Given the description of an element on the screen output the (x, y) to click on. 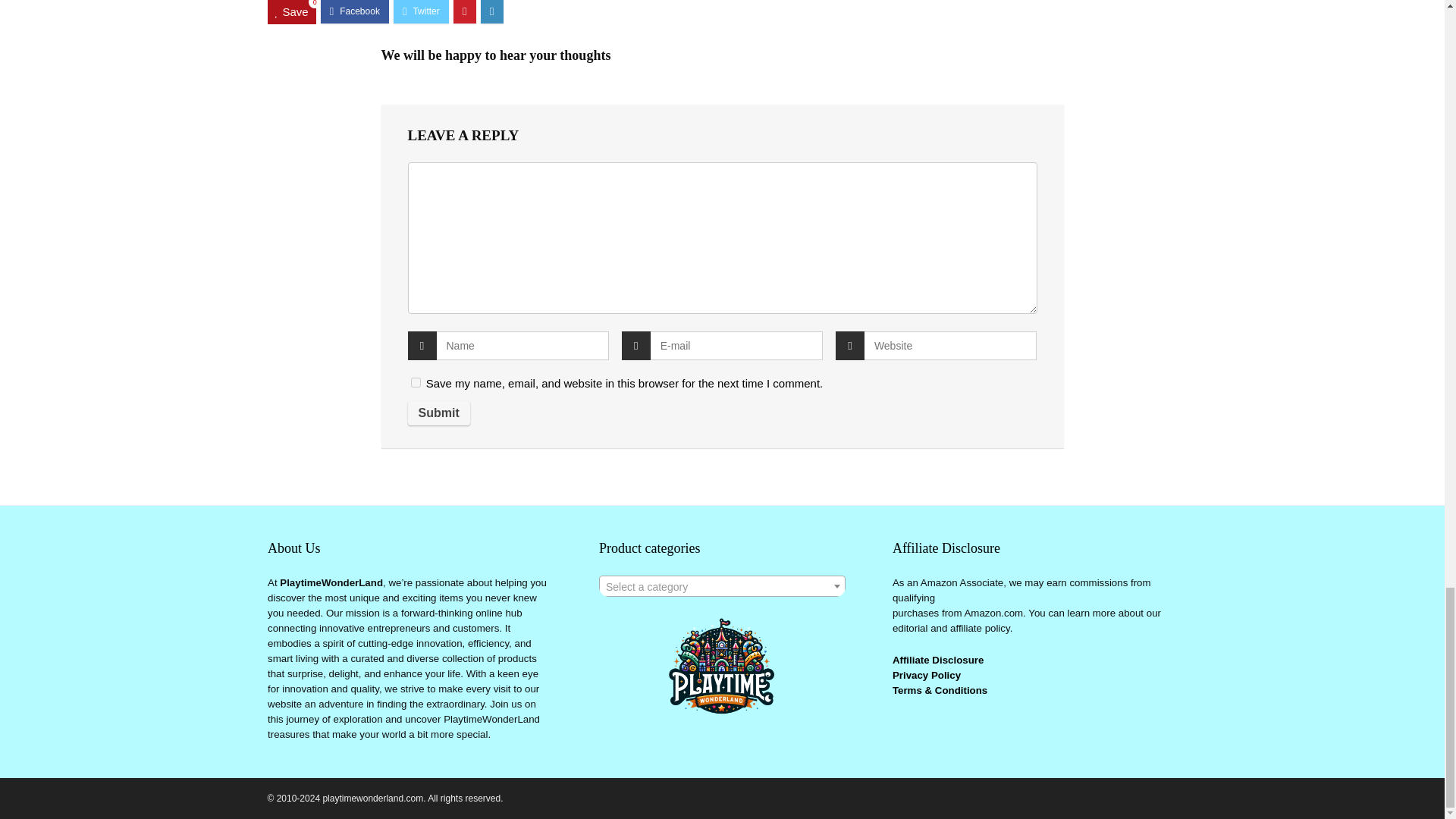
yes (415, 382)
Submit (438, 413)
